Given the description of an element on the screen output the (x, y) to click on. 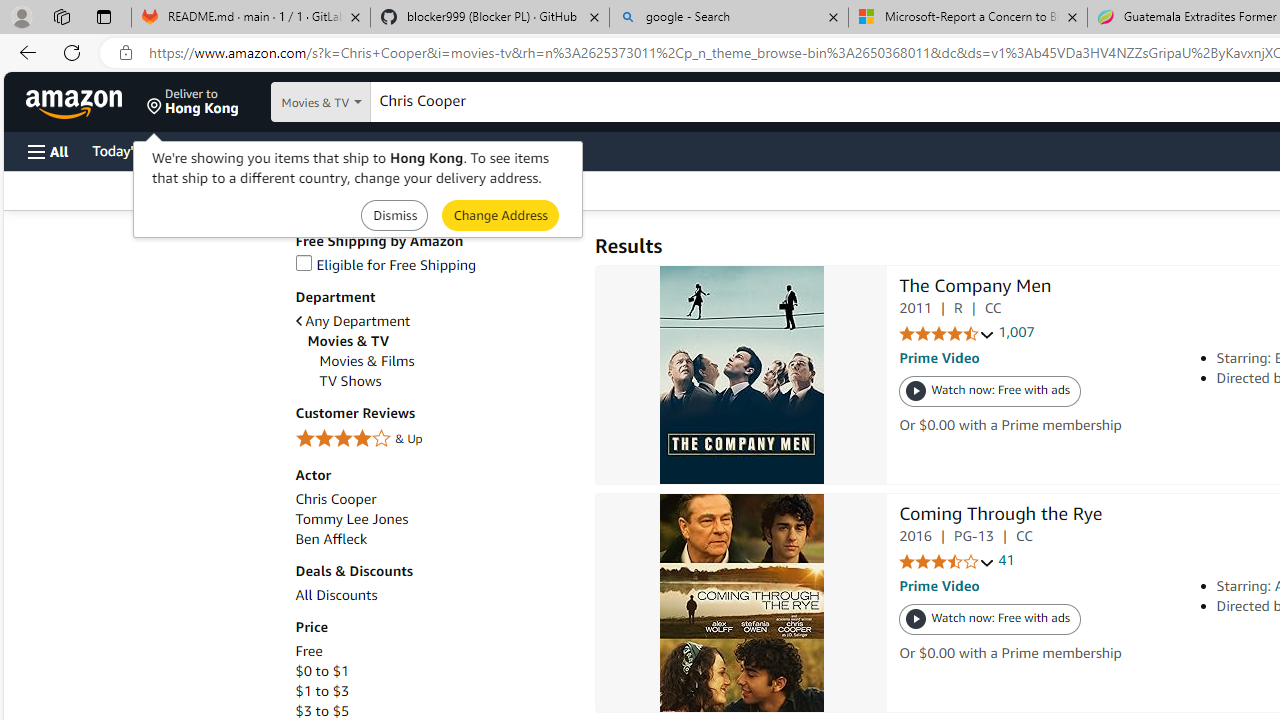
Movies & Films (446, 361)
Skip to main content (86, 100)
4 Stars & Up (434, 439)
Prime Video (939, 586)
The Company Men (975, 287)
All Discounts (434, 595)
Coming Through the Rye (1000, 516)
Free (308, 651)
Customer Service (256, 150)
Open Menu (48, 151)
Any Department (434, 321)
$0 to $1 (434, 671)
$0 to $1 (321, 671)
